Given the description of an element on the screen output the (x, y) to click on. 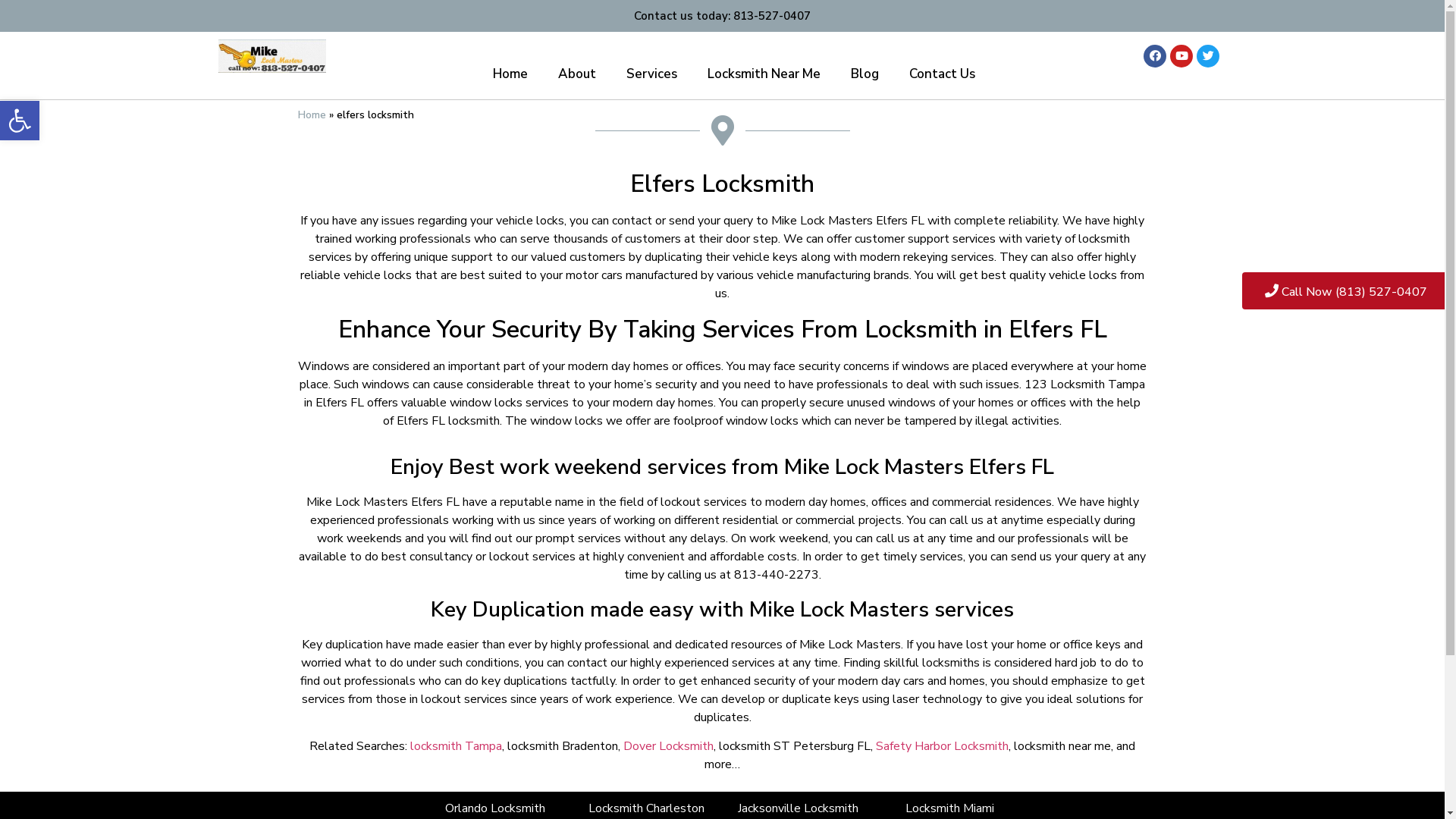
Dover Locksmith Element type: text (668, 745)
Orlando Locksmith Element type: text (494, 808)
Blog Element type: text (864, 73)
Locksmith Near Me Element type: text (763, 73)
Services Element type: text (651, 73)
About Element type: text (576, 73)
Call Now (813) 527-0407 Element type: text (1345, 290)
locksmith Tampa Element type: text (456, 745)
Open toolbar
Accessibility Tools Element type: text (19, 120)
Home Element type: text (509, 73)
Locksmith Miami Element type: text (949, 808)
Home Element type: text (311, 114)
Locksmith Charleston Element type: text (646, 808)
Contact Us Element type: text (942, 73)
Safety Harbor Locksmith Element type: text (941, 745)
Jacksonville Locksmith Element type: text (797, 808)
